Given the description of an element on the screen output the (x, y) to click on. 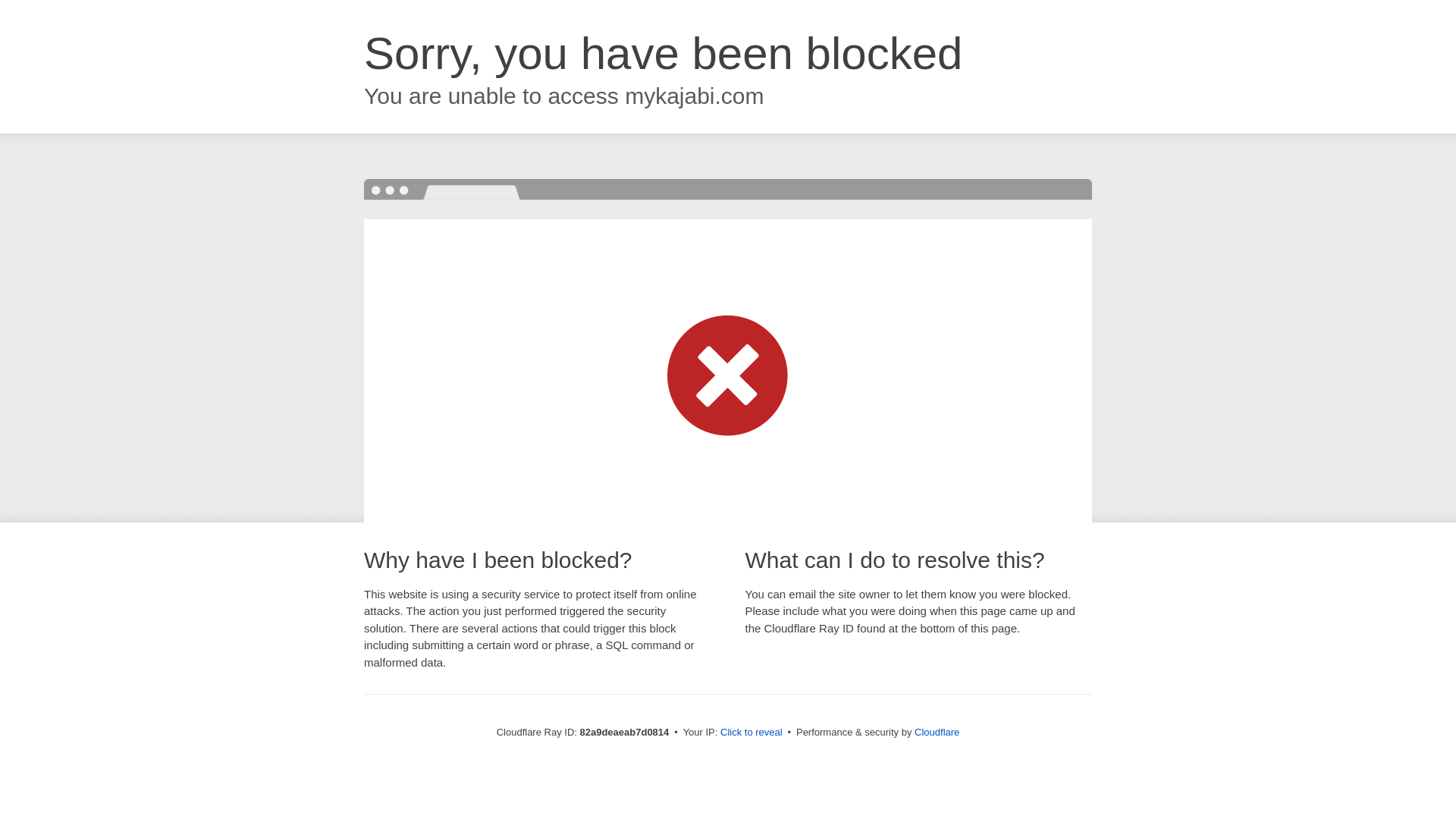
Cloudflare Element type: text (936, 731)
Click to reveal Element type: text (751, 732)
